Given the description of an element on the screen output the (x, y) to click on. 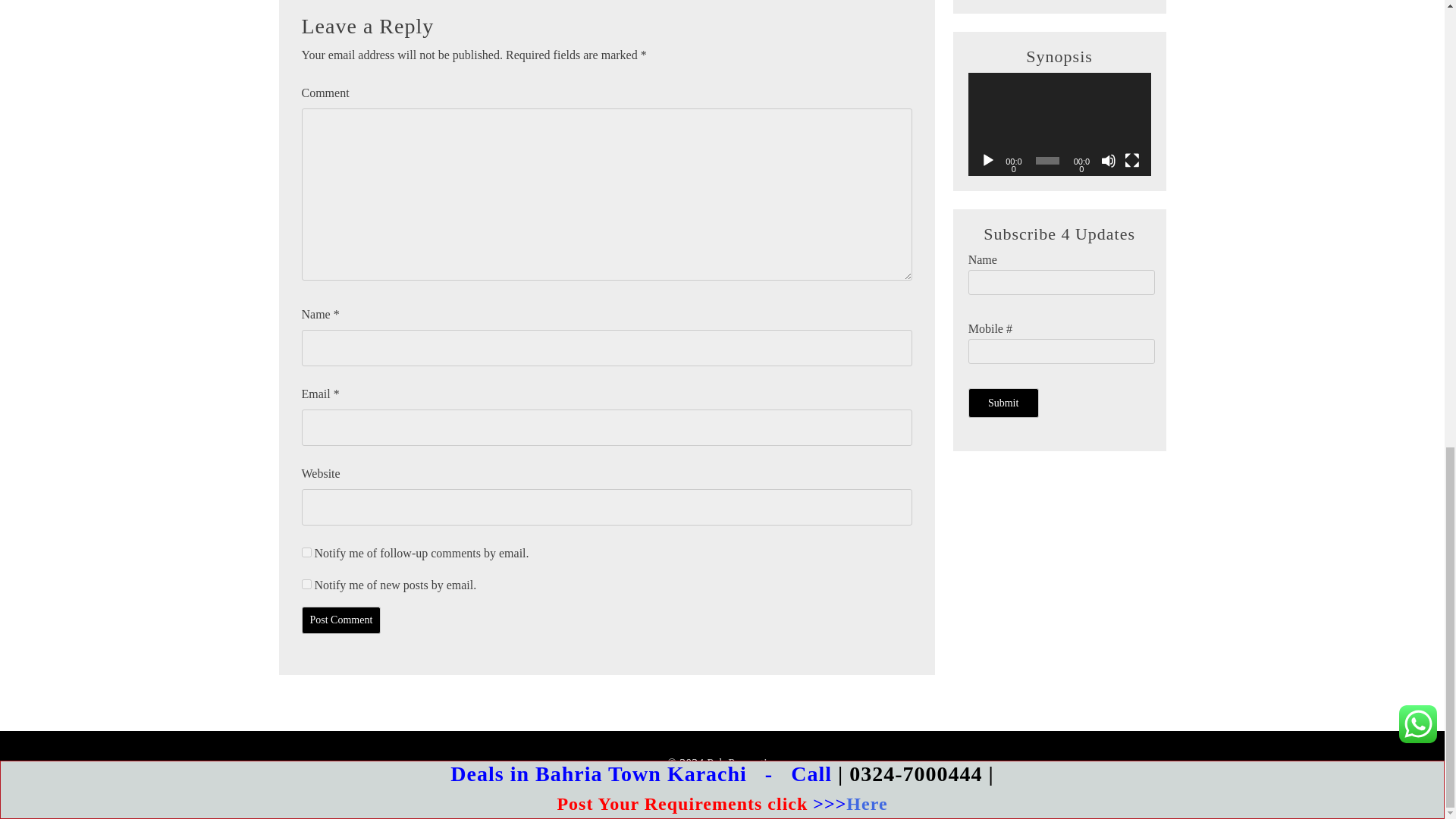
Post Comment (341, 619)
Play (987, 160)
Submit (1003, 402)
Mute (1108, 160)
subscribe (306, 552)
Fullscreen (1132, 160)
subscribe (306, 583)
